Given the description of an element on the screen output the (x, y) to click on. 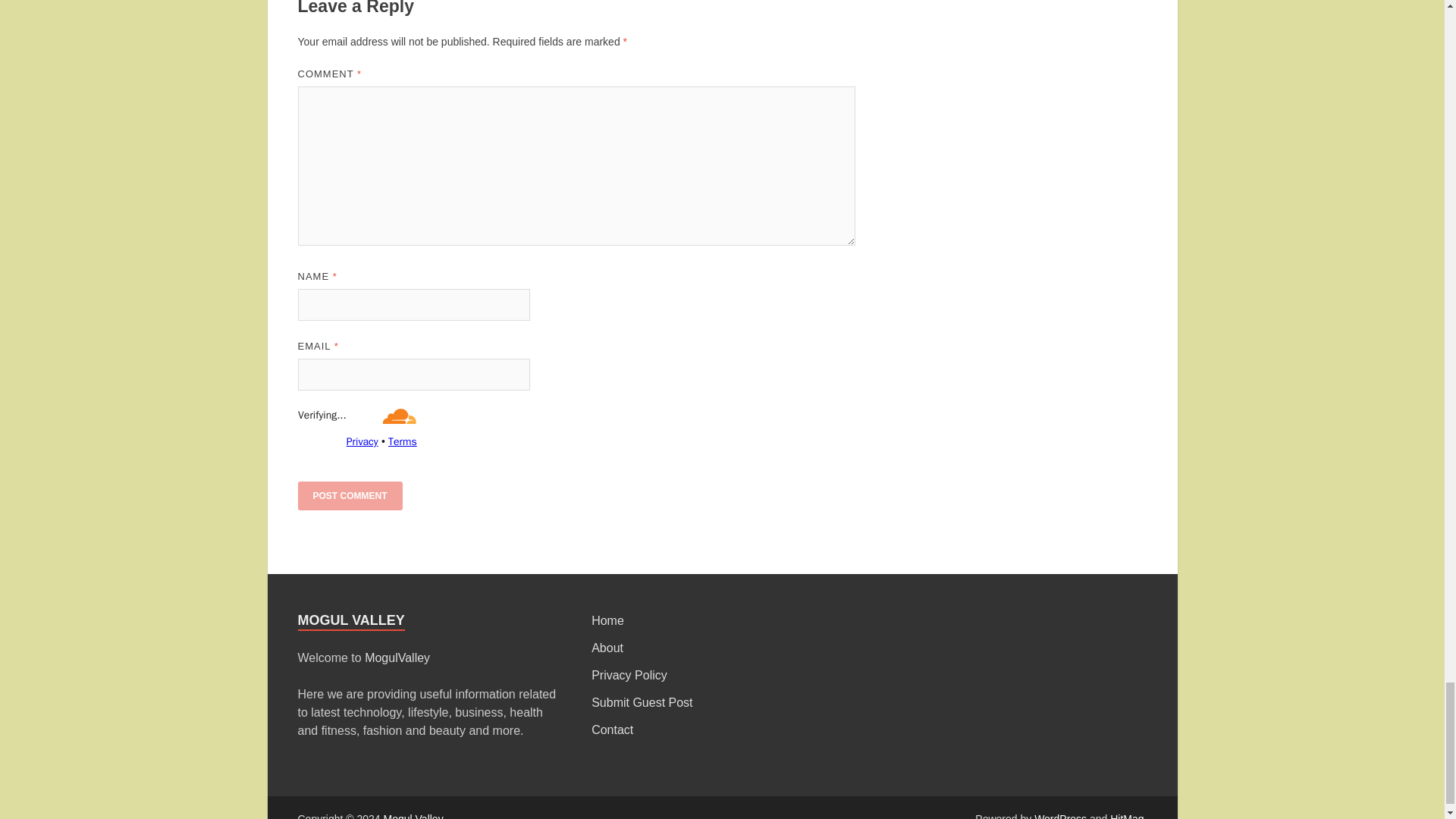
Post Comment (349, 495)
